Given the description of an element on the screen output the (x, y) to click on. 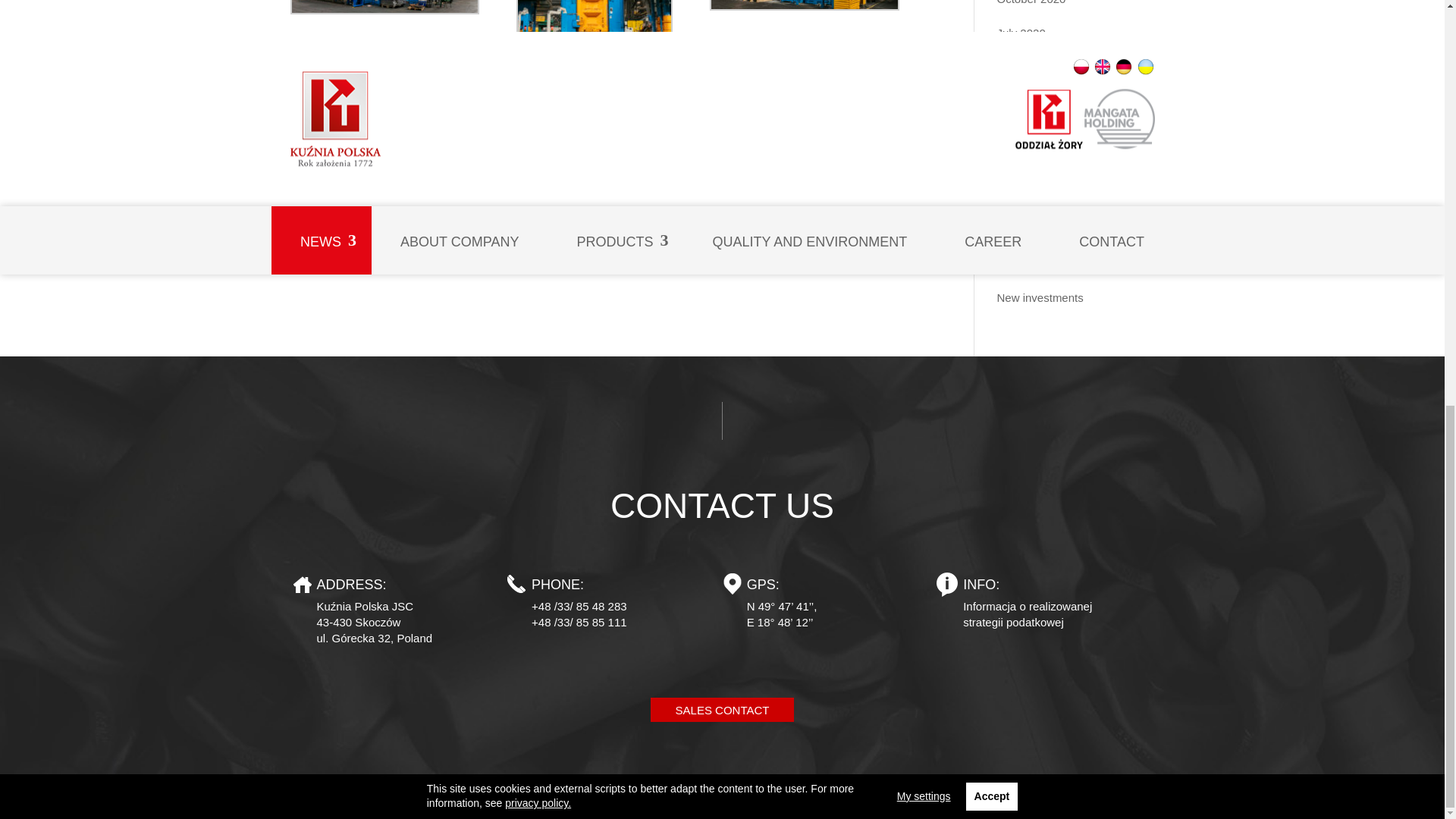
Agencja Reklamy ELGRAFICA - Pszczyna (1125, 799)
Accept (991, 4)
Informacja o realizowanej strategii podatkowej (1027, 613)
privacy policy. (537, 2)
